Given the description of an element on the screen output the (x, y) to click on. 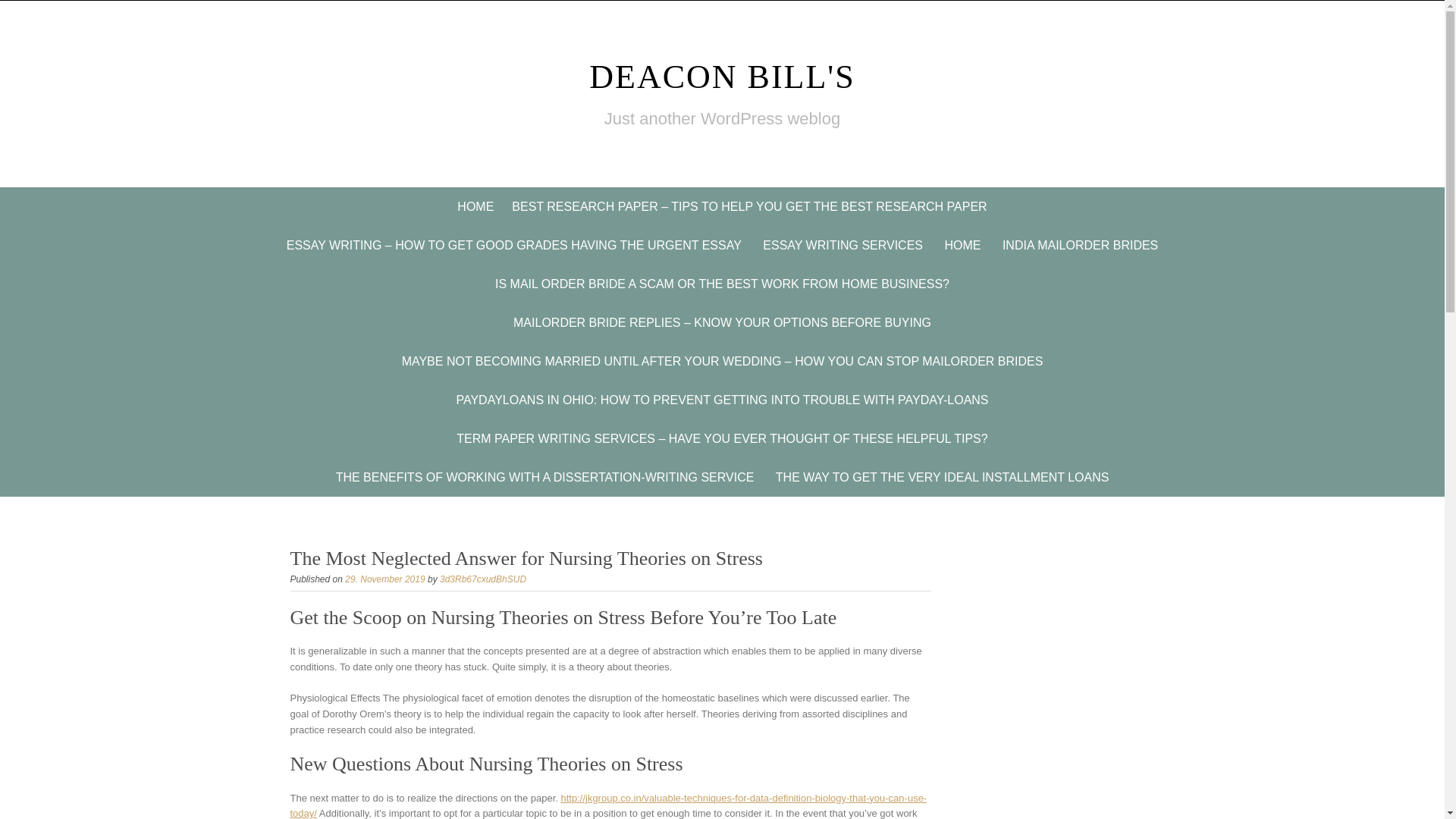
HOME (962, 245)
29. November 2019 (385, 579)
Deacon Bill's Just another WordPress weblog (721, 76)
HOME (475, 206)
3d3Rb67cxudBhSUD (482, 579)
ESSAY WRITING SERVICES (842, 245)
THE WAY TO GET THE VERY IDEAL INSTALLMENT LOANS (942, 476)
INDIA MAILORDER BRIDES (1079, 245)
THE BENEFITS OF WORKING WITH A DISSERTATION-WRITING SERVICE (544, 476)
DEACON BILL'S (721, 76)
